Given the description of an element on the screen output the (x, y) to click on. 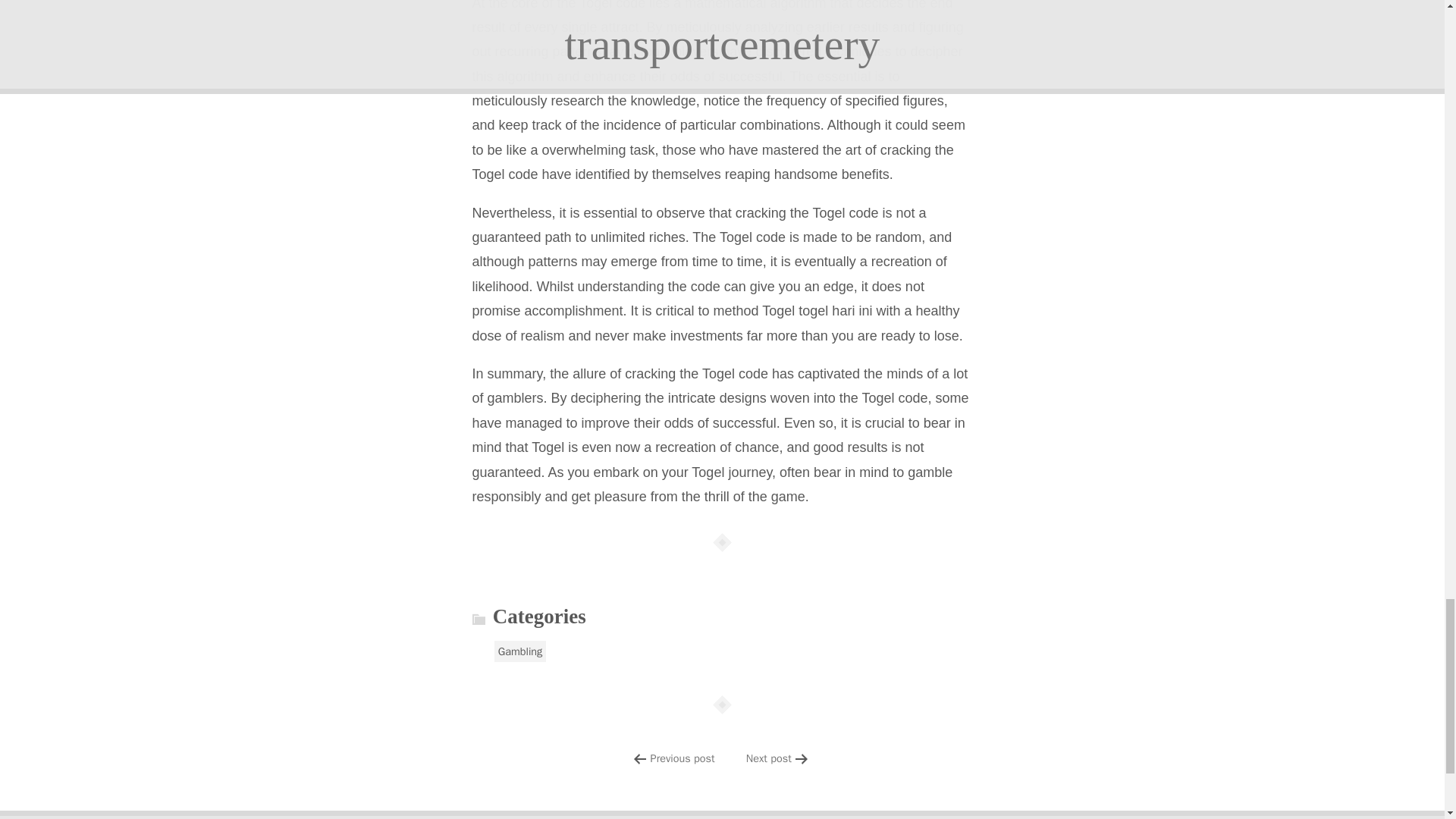
Gambling (521, 650)
Next post (768, 757)
Previous post (682, 757)
